Given the description of an element on the screen output the (x, y) to click on. 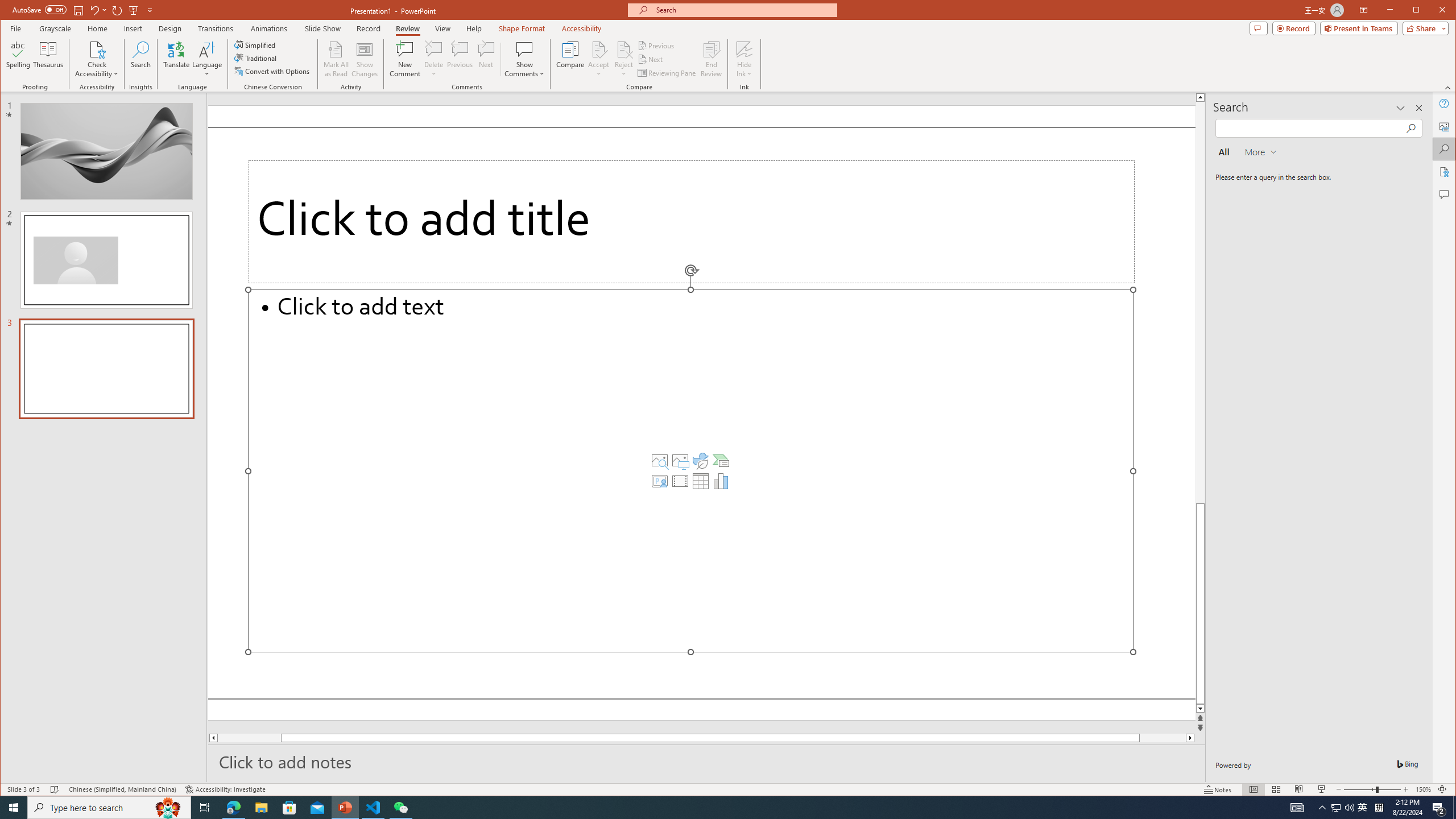
Zoom 150% (1422, 789)
